Given the description of an element on the screen output the (x, y) to click on. 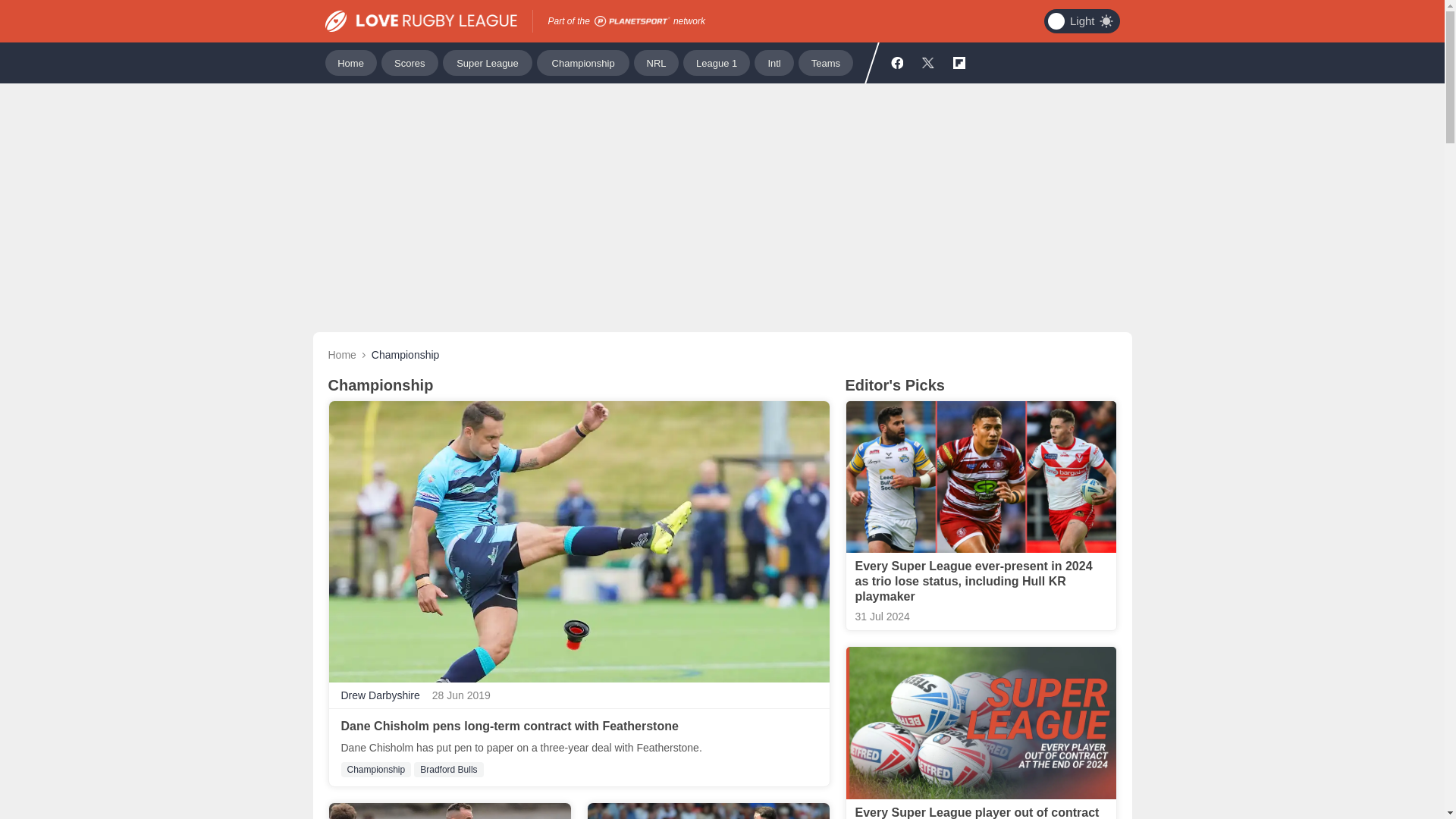
Teams (825, 62)
League 1 (715, 62)
Championship (582, 62)
Home (349, 62)
NRL (655, 62)
Dane Chisholm pens long-term contract with Featherstone (509, 725)
Drew Darbyshire (380, 695)
Home (341, 354)
Intl (773, 62)
Super League (487, 62)
